Given the description of an element on the screen output the (x, y) to click on. 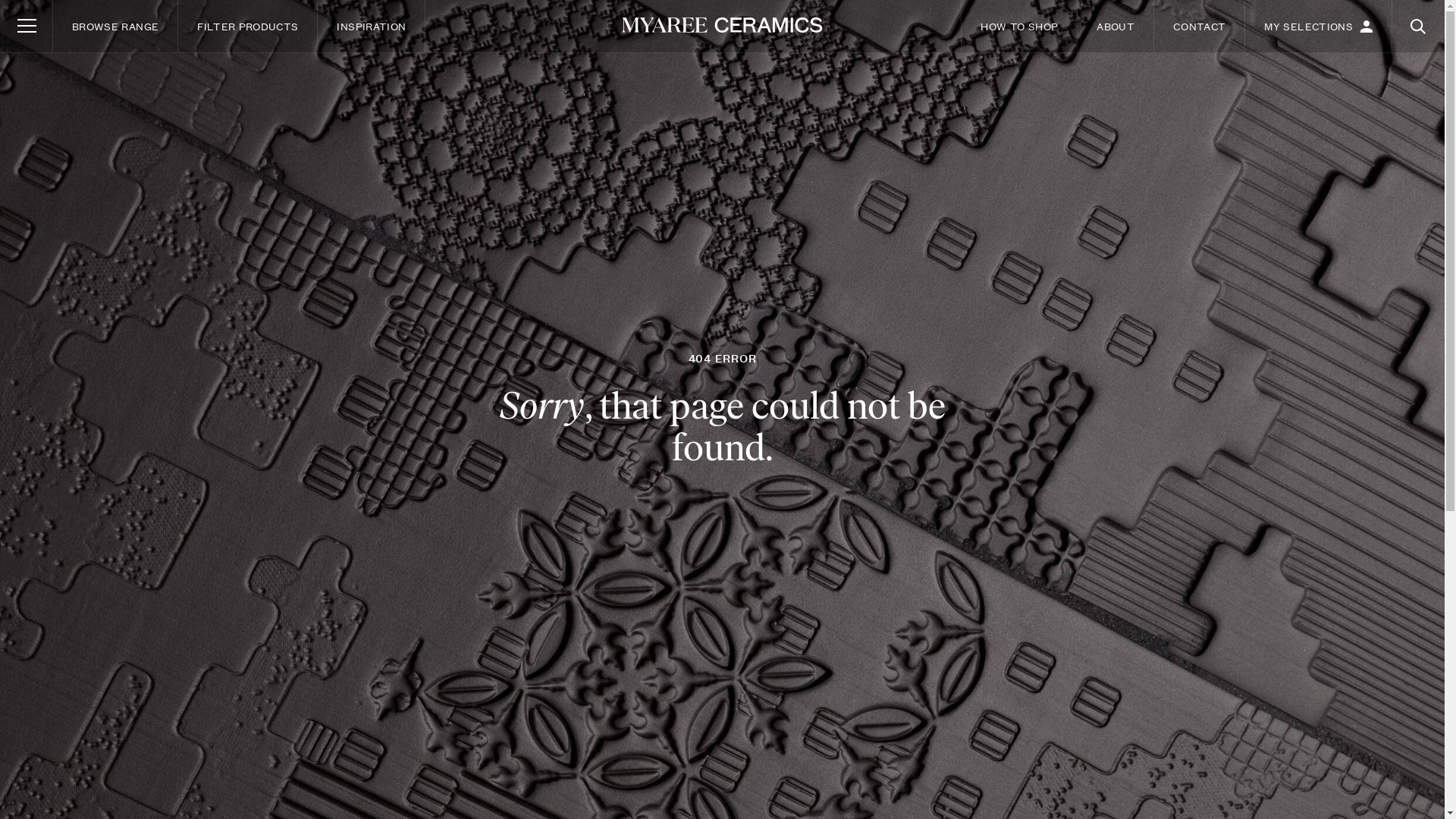
CONTACT Element type: text (1199, 26)
ABOUT Element type: text (1115, 26)
BROWSE RANGE Element type: text (115, 26)
MY SELECTIONS Element type: text (1318, 26)
Myaree Ceramics Element type: hover (721, 25)
FILTER PRODUCTS Element type: text (247, 26)
HOW TO SHOP Element type: text (1018, 26)
INSPIRATION Element type: text (370, 26)
